Given the description of an element on the screen output the (x, y) to click on. 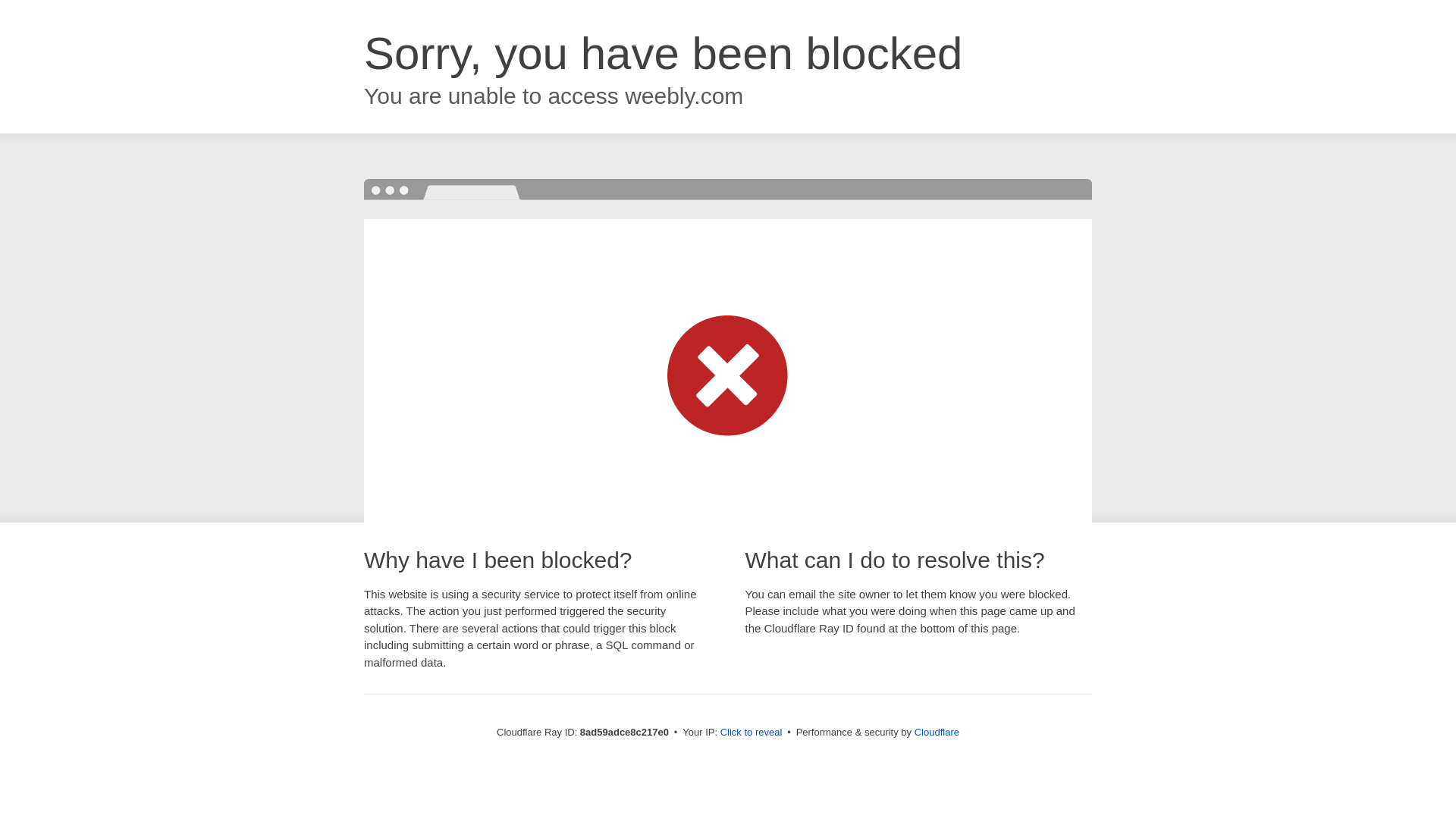
Cloudflare (936, 731)
Click to reveal (751, 732)
